Given the description of an element on the screen output the (x, y) to click on. 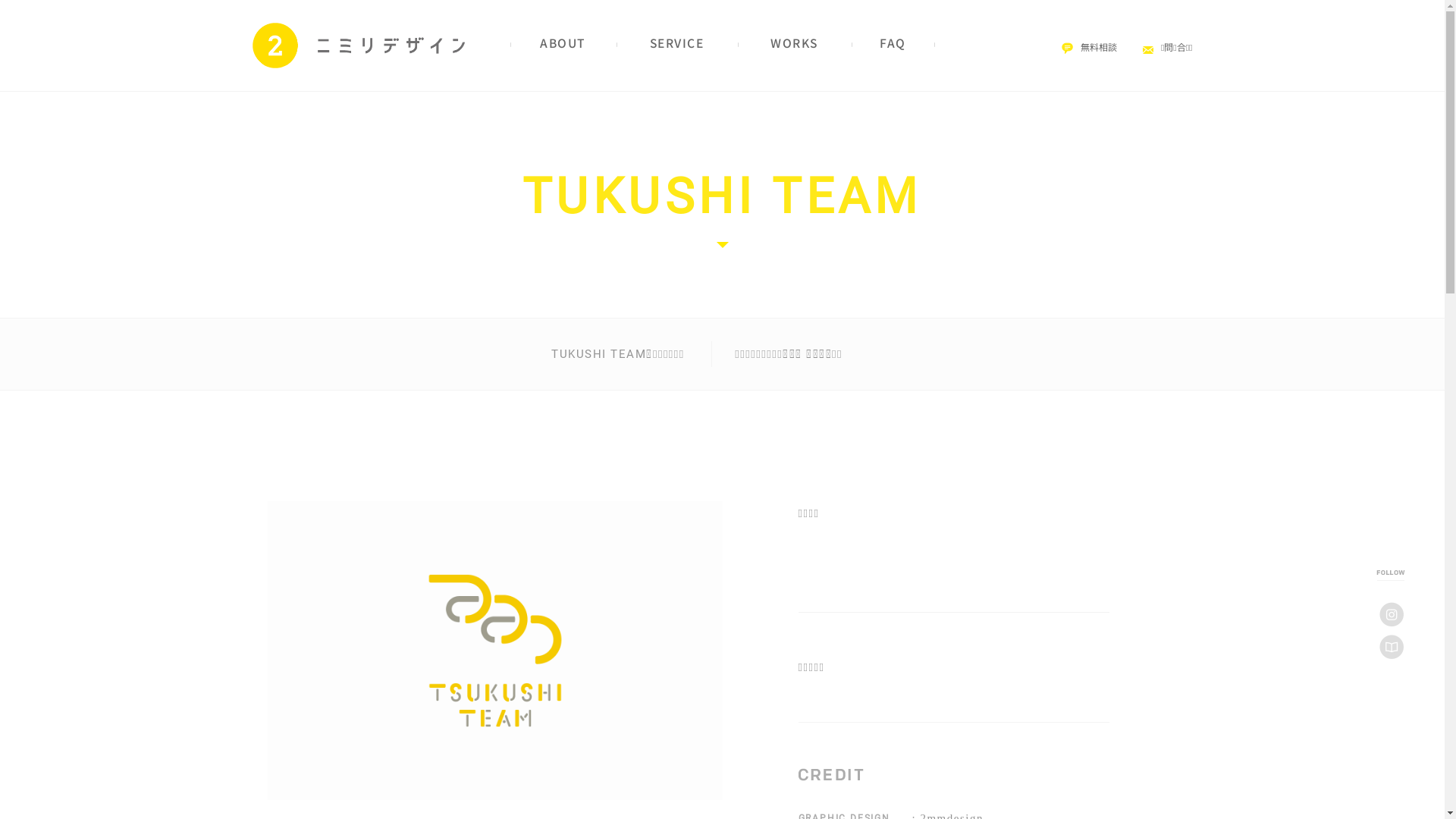
Skip to content Element type: text (0, 91)
